Given the description of an element on the screen output the (x, y) to click on. 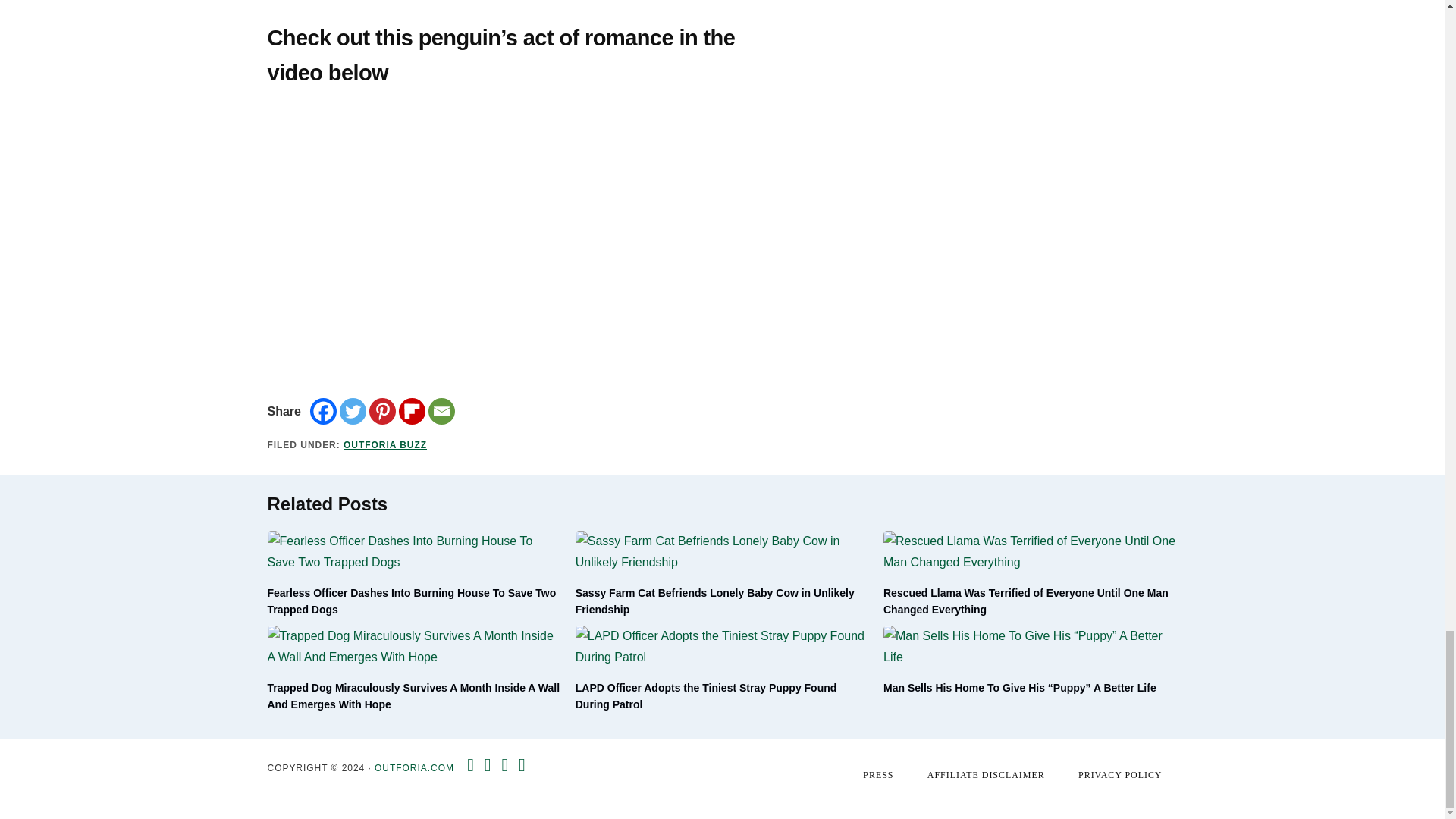
Email (441, 411)
Twitter (352, 411)
OUTFORIA BUZZ (384, 444)
Facebook (323, 411)
Pinterest (382, 411)
Flipboard (411, 411)
